Given the description of an element on the screen output the (x, y) to click on. 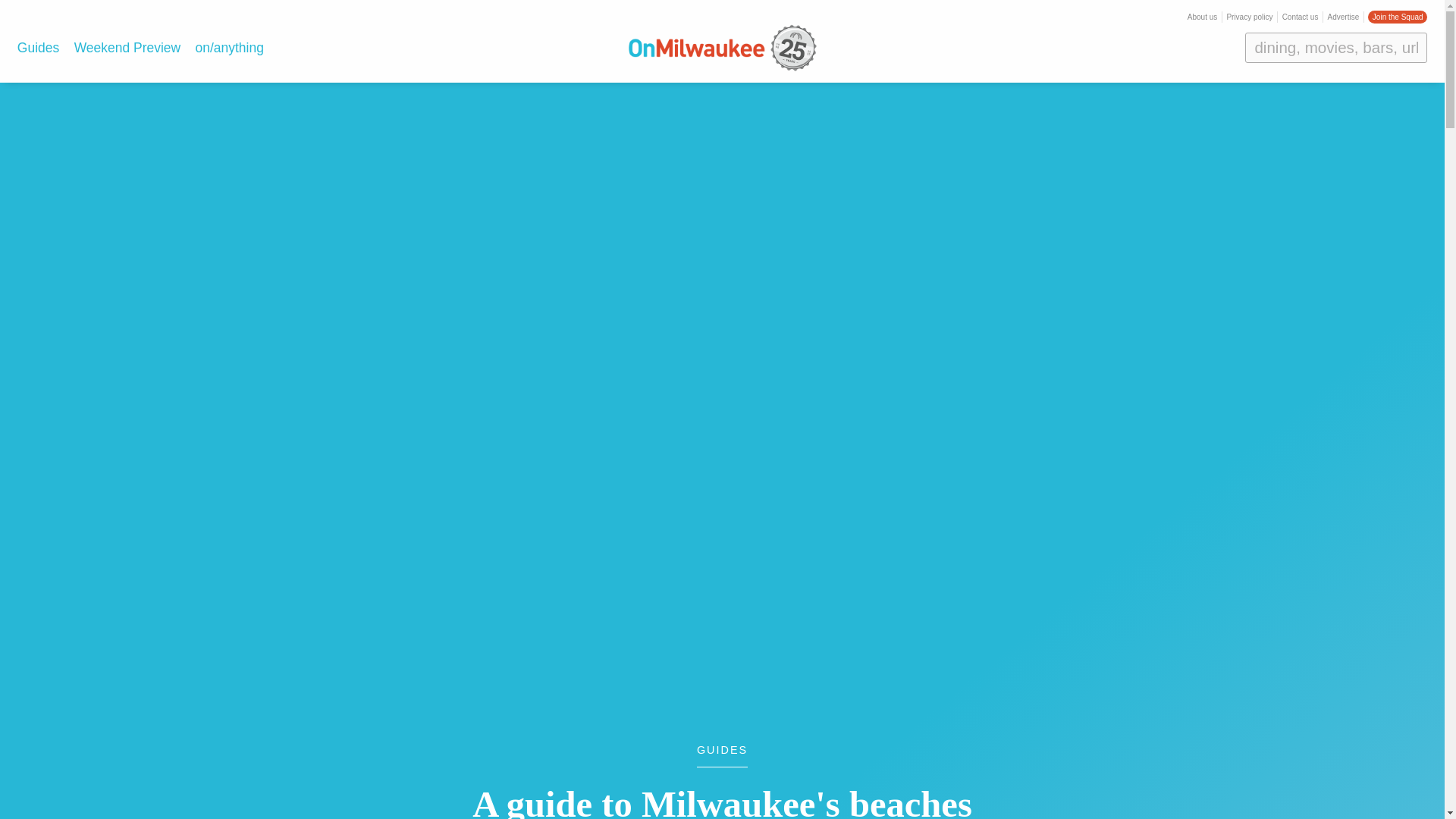
dining, movies, bars, urban spelunking (1335, 47)
Guides (38, 47)
Privacy policy (1248, 17)
Contact us (1300, 17)
Advertise (1343, 17)
Join the Squad (1397, 16)
About us (1202, 17)
GUIDES (722, 755)
Weekend Preview (127, 47)
dining, movies, bars, urban spelunking (1335, 47)
